Given the description of an element on the screen output the (x, y) to click on. 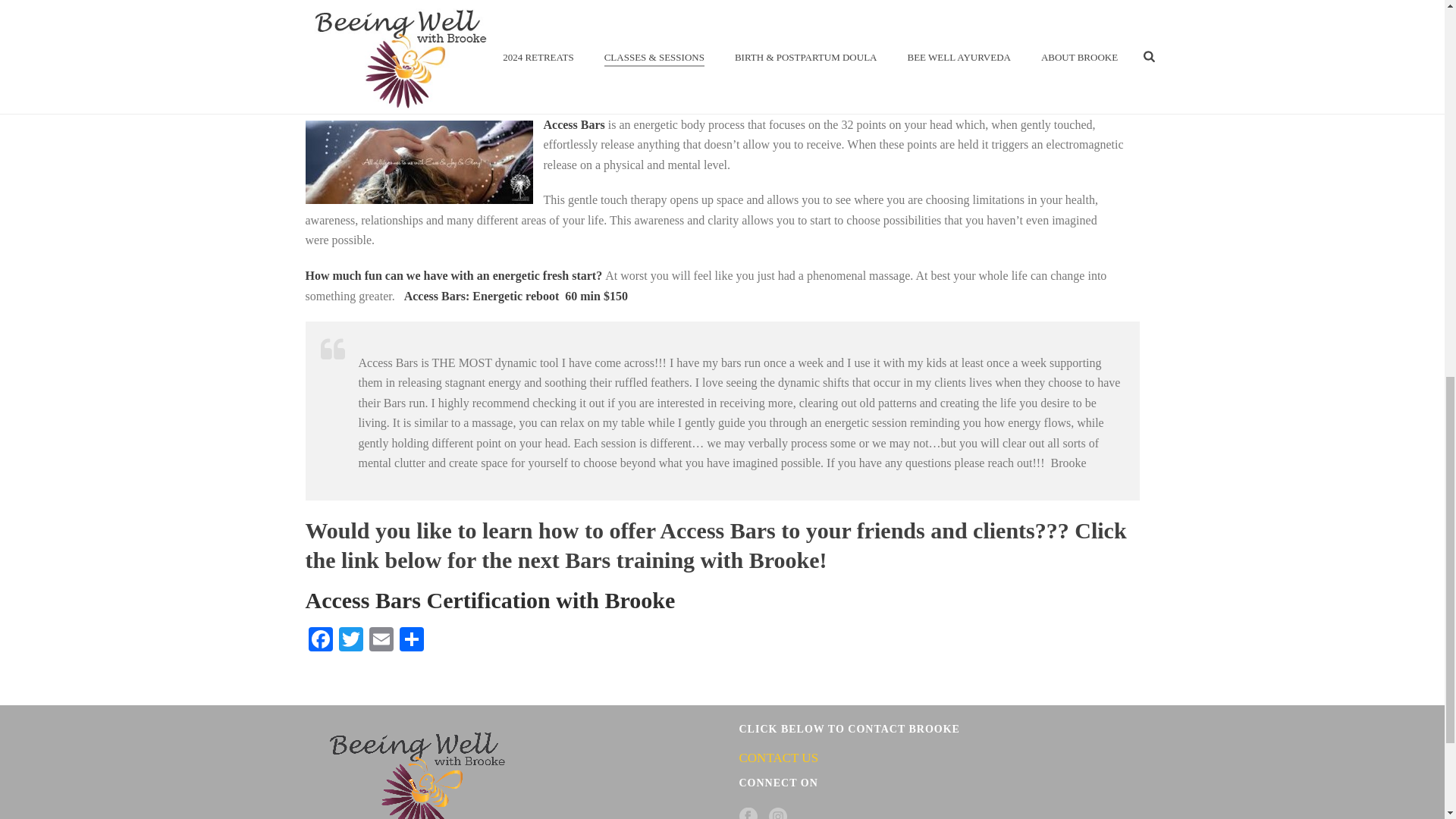
Email (380, 641)
Connect On instagram (777, 813)
Facebook (319, 641)
Connect On facebook (747, 813)
Twitter (349, 641)
